Given the description of an element on the screen output the (x, y) to click on. 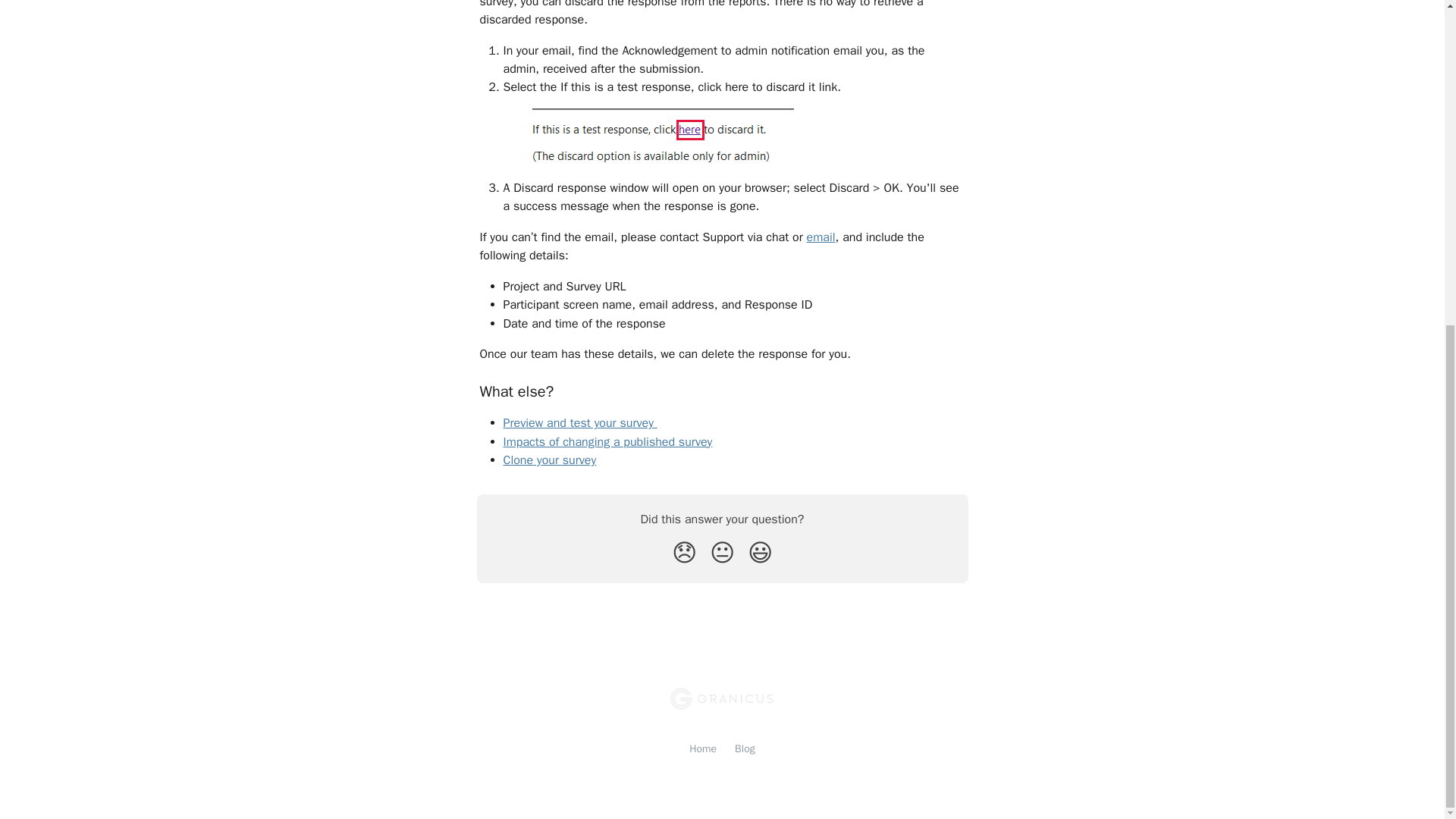
Blog (745, 748)
Clone your survey (549, 459)
Preview and test your survey (580, 422)
email (820, 237)
Impacts of changing a published survey (608, 441)
Home (702, 748)
